Given the description of an element on the screen output the (x, y) to click on. 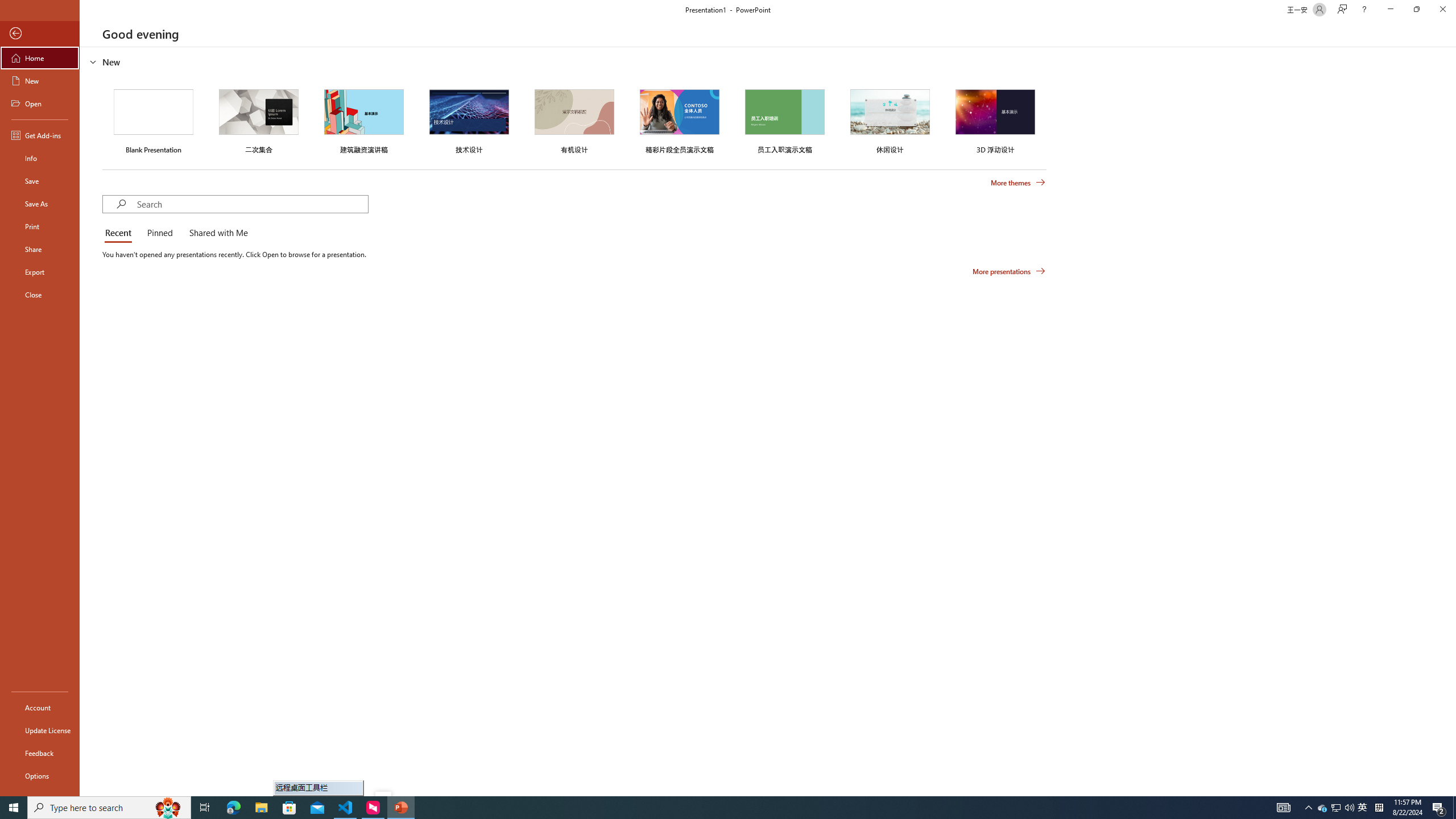
Blank Presentation (153, 119)
Class: NetUIScrollBar (1450, 421)
Pinned (159, 233)
Hide or show region (92, 61)
Info (40, 157)
Feedback (40, 753)
